Given the description of an element on the screen output the (x, y) to click on. 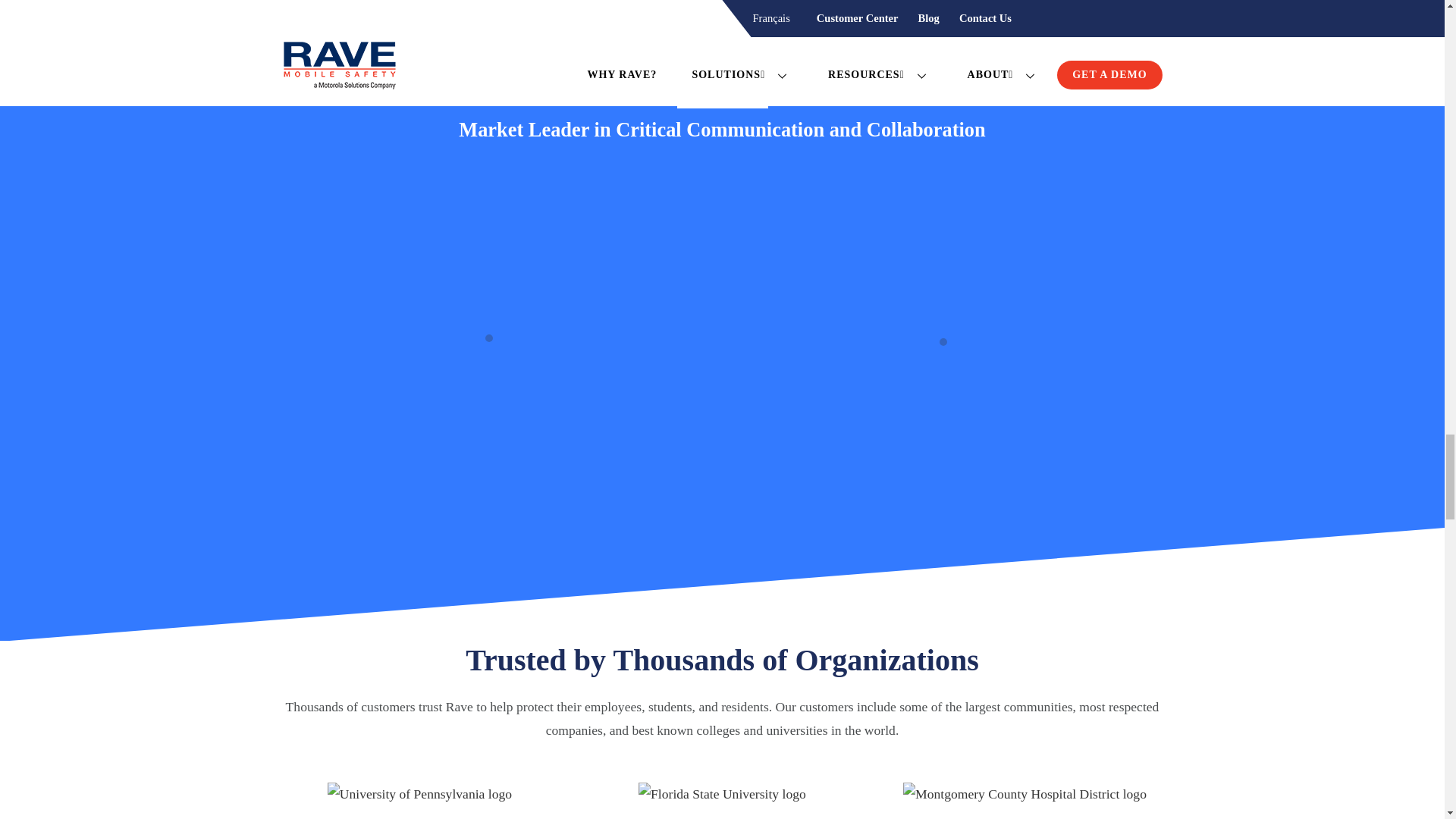
university-pennsylvania-logo (419, 793)
montgomery-county-hospital-district-logo (1024, 793)
florida-state-university-seal (722, 793)
